Given the description of an element on the screen output the (x, y) to click on. 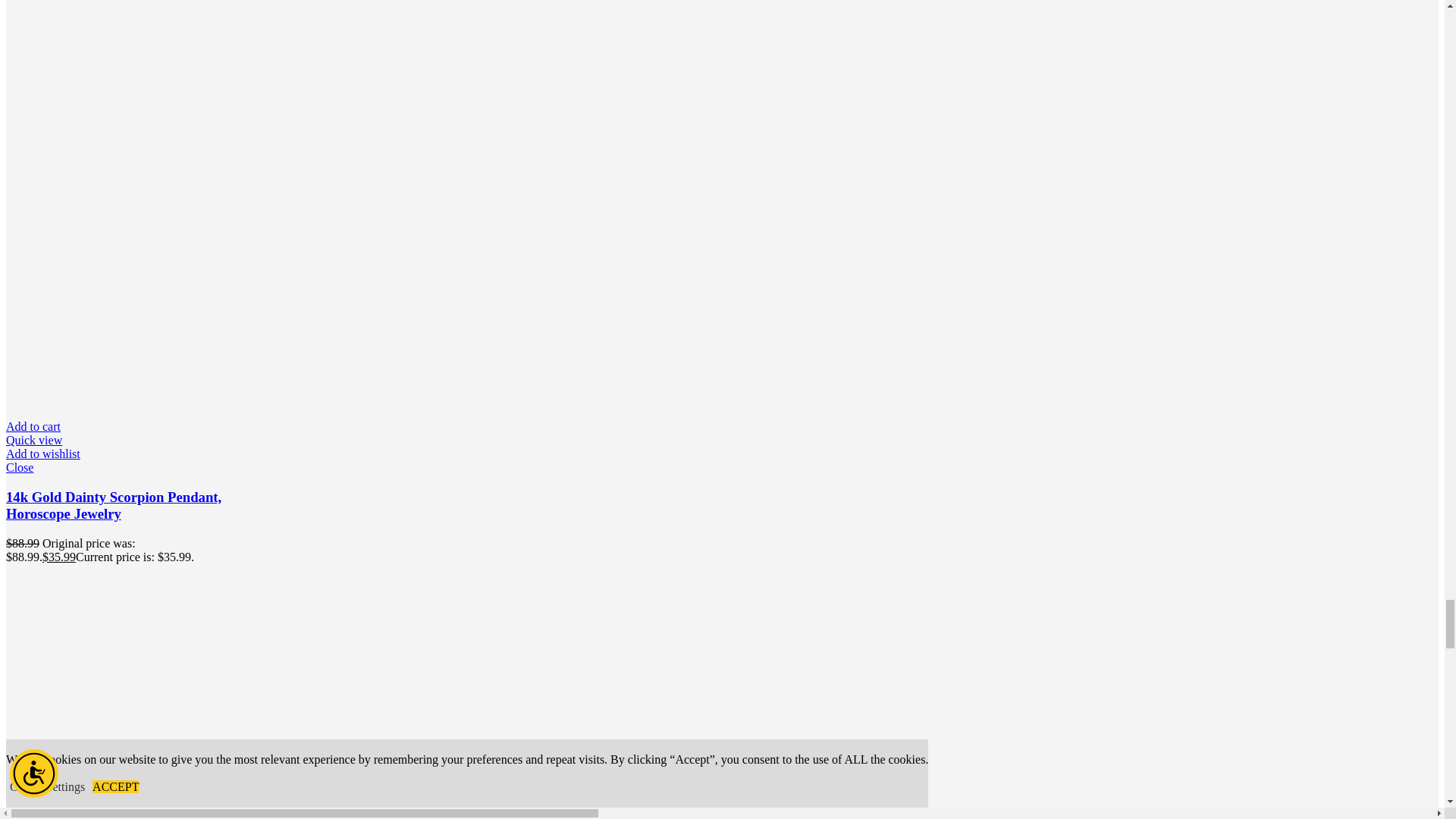
Close (121, 468)
